Given the description of an element on the screen output the (x, y) to click on. 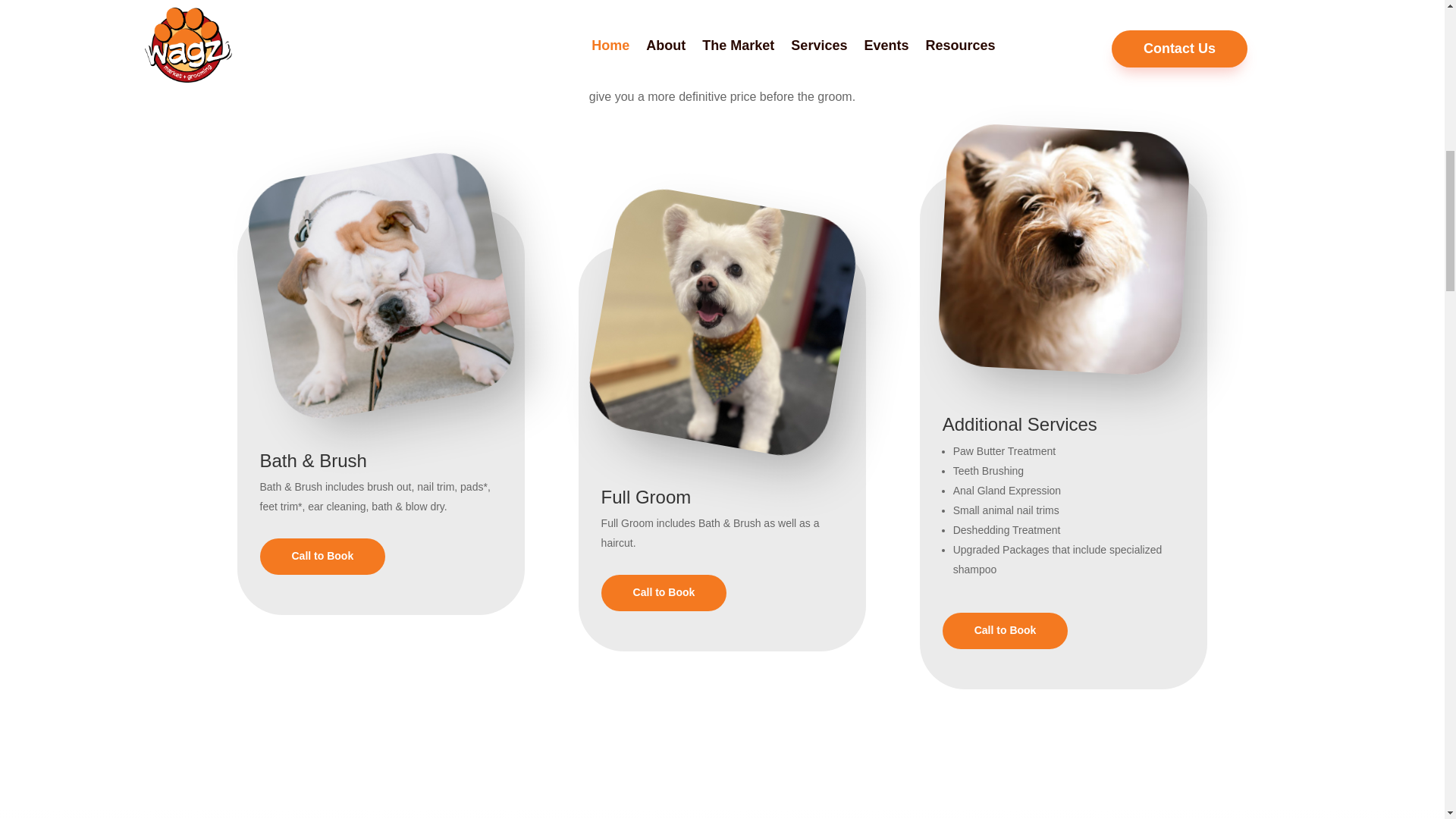
dog-walker-28 (1057, 243)
Call to Book (663, 592)
Call to Book (1005, 630)
Call to Book (322, 556)
E17856F4-964A-47B2-94B1-A8CDC1AC1EA8 (702, 302)
